Given the description of an element on the screen output the (x, y) to click on. 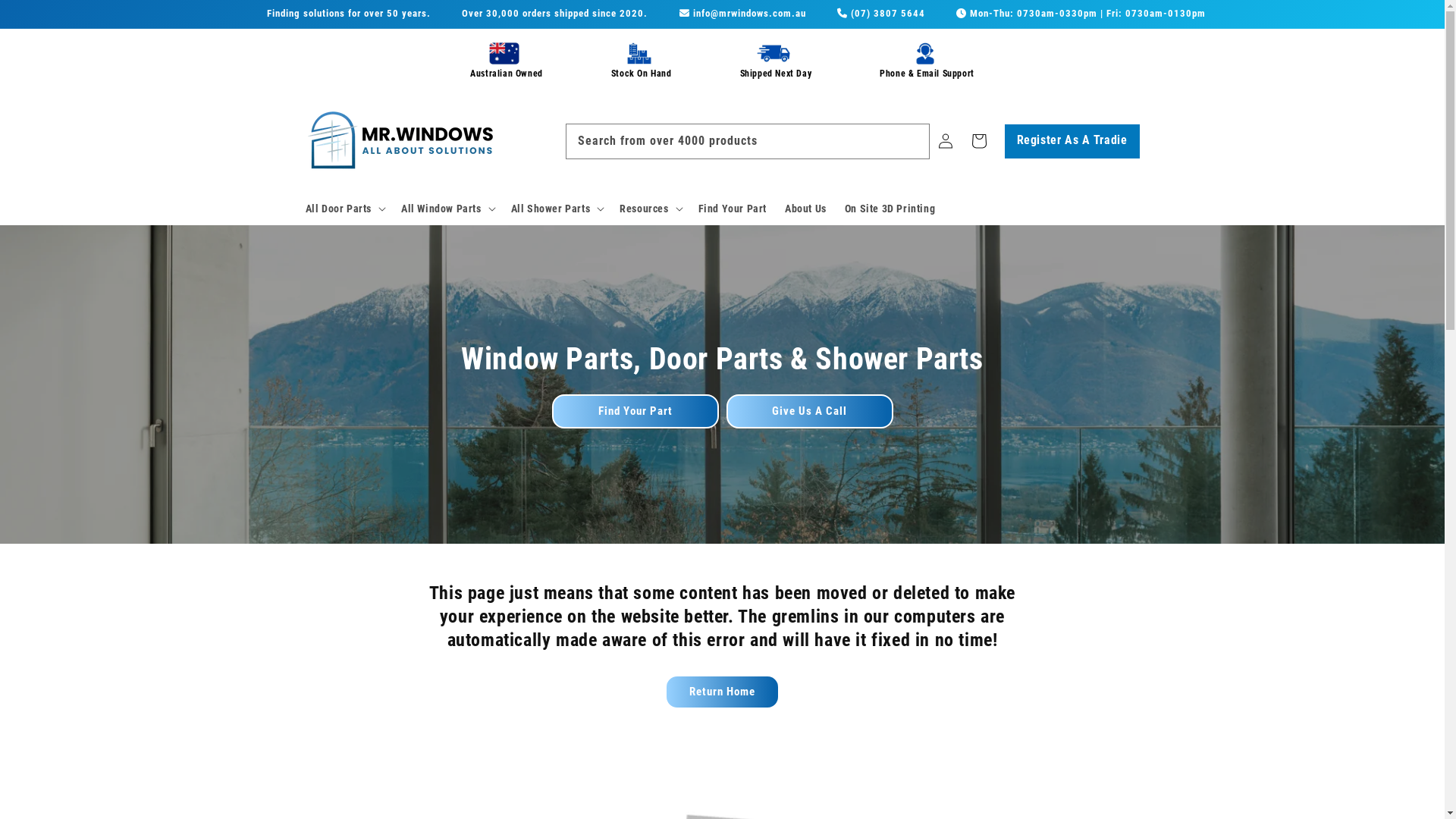
(07) 3807 5644 Element type: text (881, 12)
Return Home Element type: text (722, 691)
Australia Owned Element type: hover (504, 53)
Find Your Part Element type: text (732, 208)
About Us Element type: text (805, 208)
Log in Element type: text (944, 140)
Give Us A Call Element type: text (809, 411)
Finding solutions for over 50 years. Element type: text (348, 12)
On Site 3D Printing Element type: text (889, 208)
info@mrwindows.com.au Element type: text (742, 12)
Find Your Part Element type: text (635, 411)
Cart Element type: text (977, 140)
Register As A Tradie Element type: text (1071, 141)
Over 30,000 orders shipped since 2020. Element type: text (554, 12)
shipped next day Element type: hover (773, 53)
customer support Element type: hover (925, 53)
Mon-Thu: 0730am-0330pm | Fri: 0730am-0130pm Element type: text (1080, 12)
stock on hand Element type: hover (639, 53)
